Given the description of an element on the screen output the (x, y) to click on. 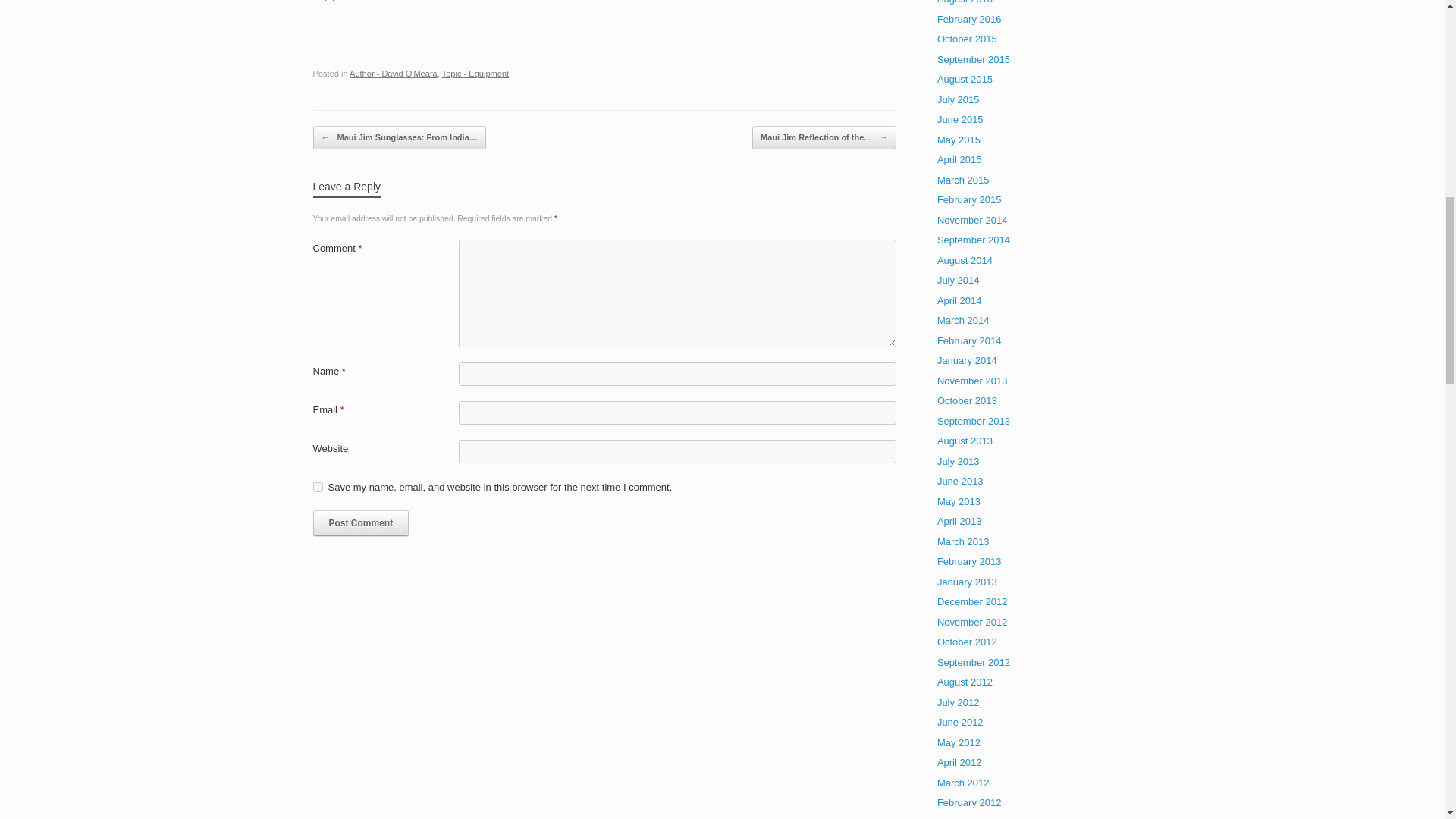
Post Comment (361, 523)
Post Comment (361, 523)
Topic - Equipment (475, 72)
Author - David O'Meara (393, 72)
yes (317, 487)
